Given the description of an element on the screen output the (x, y) to click on. 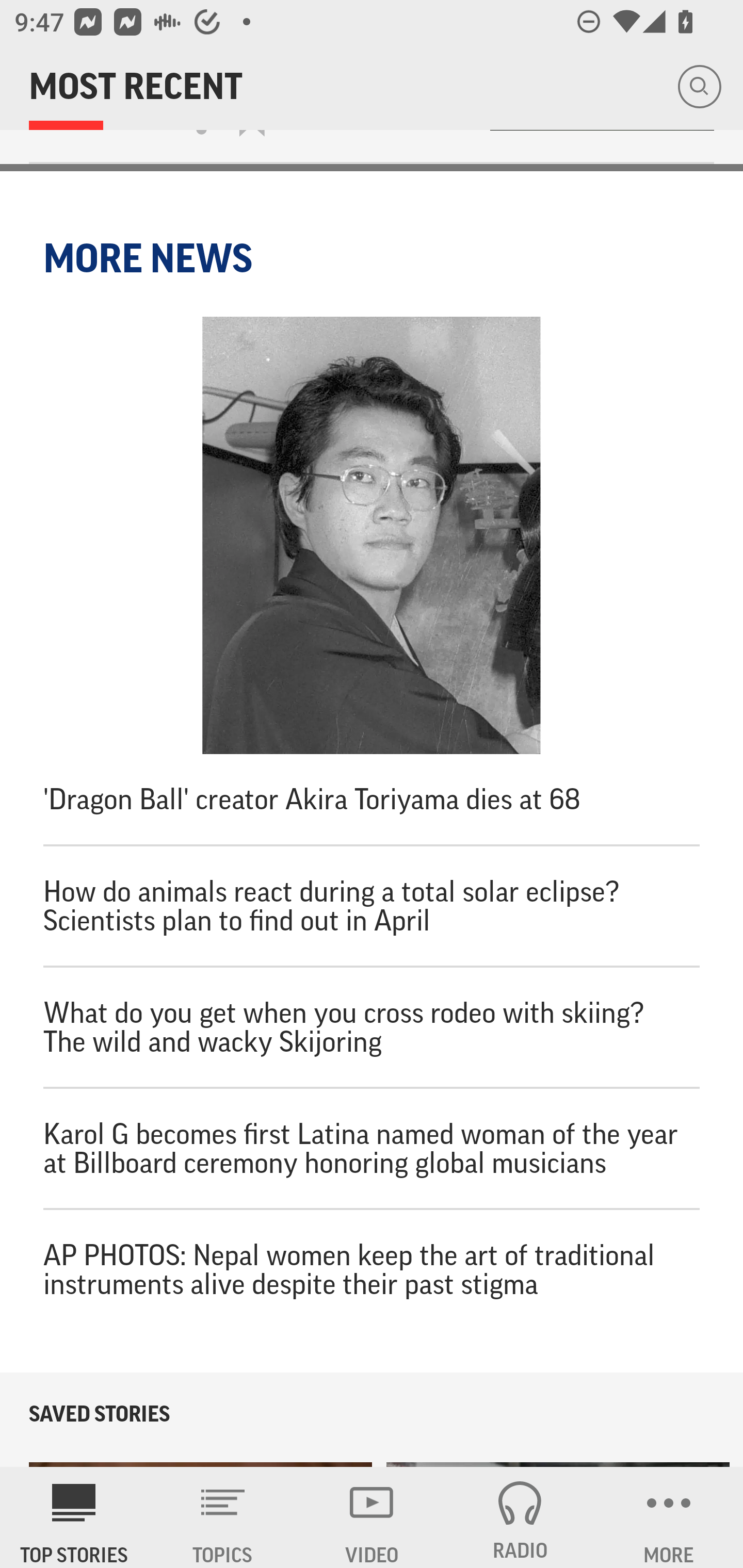
MORE NEWS (151, 258)
'Dragon Ball' creator Akira Toriyama dies at 68 (371, 579)
AP News TOP STORIES (74, 1517)
TOPICS (222, 1517)
VIDEO (371, 1517)
RADIO (519, 1517)
MORE (668, 1517)
